Given the description of an element on the screen output the (x, y) to click on. 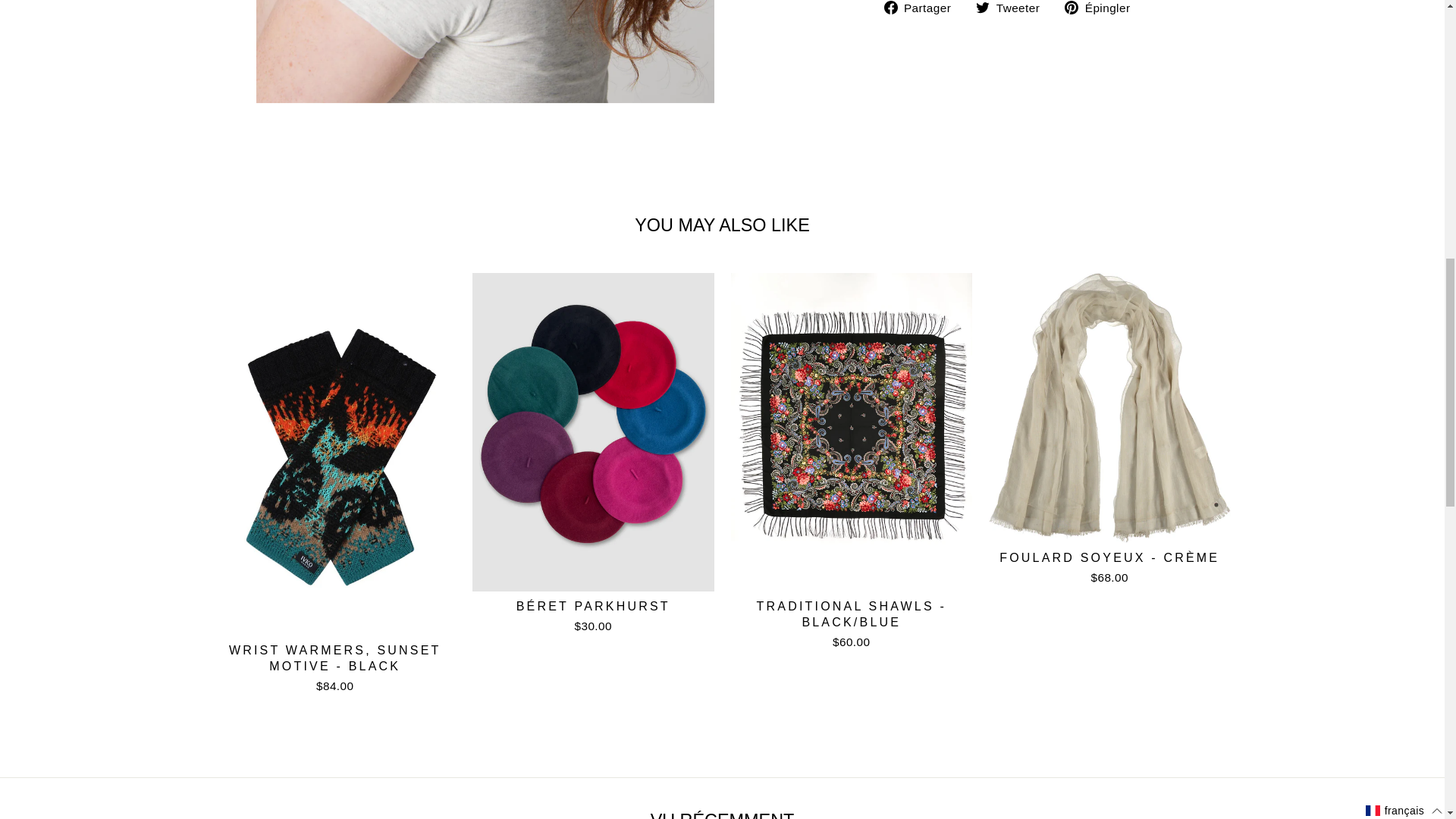
Tweeter sur Twitter (1013, 8)
Partager sur Facebook (922, 8)
